Given the description of an element on the screen output the (x, y) to click on. 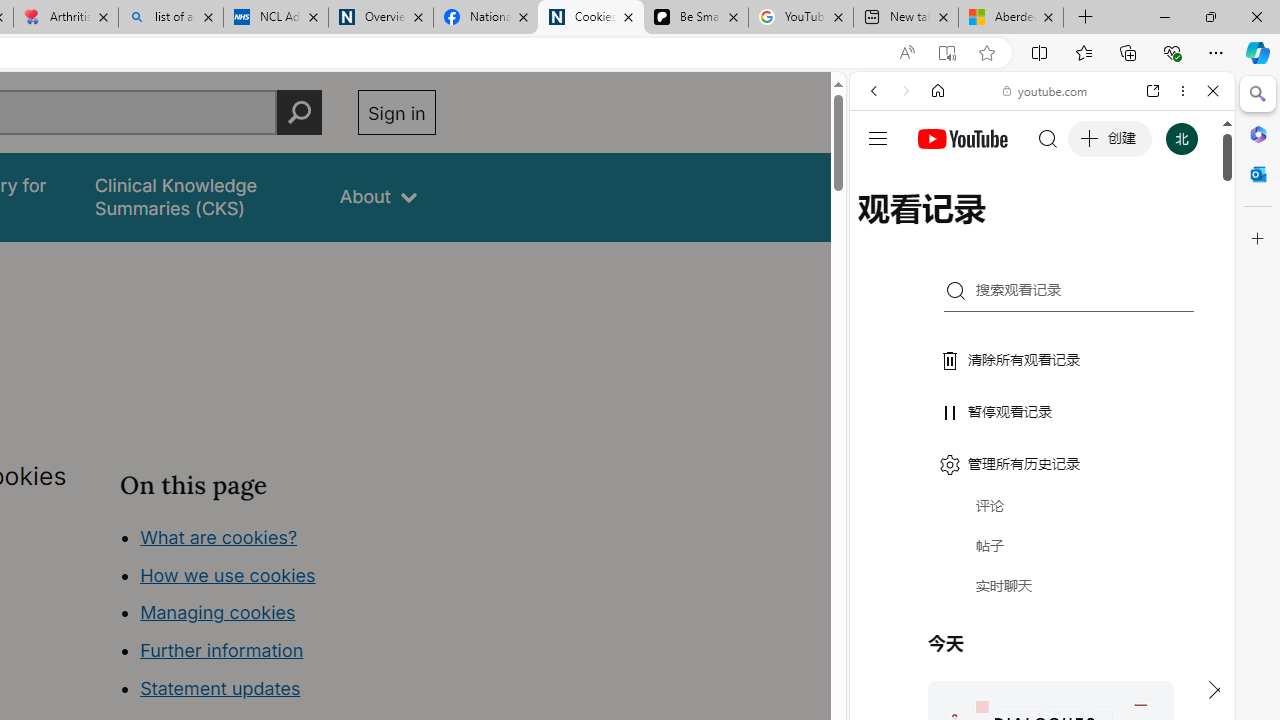
false (198, 196)
IMAGES (939, 228)
Web scope (882, 180)
Search Filter, Search Tools (1093, 228)
Show More Music (1164, 546)
What are cookies? (218, 536)
Trailer #2 [HD] (1042, 592)
Google (1042, 494)
Arthritis: Ask Health Professionals (65, 17)
Search Filter, WEB (882, 228)
